Given the description of an element on the screen output the (x, y) to click on. 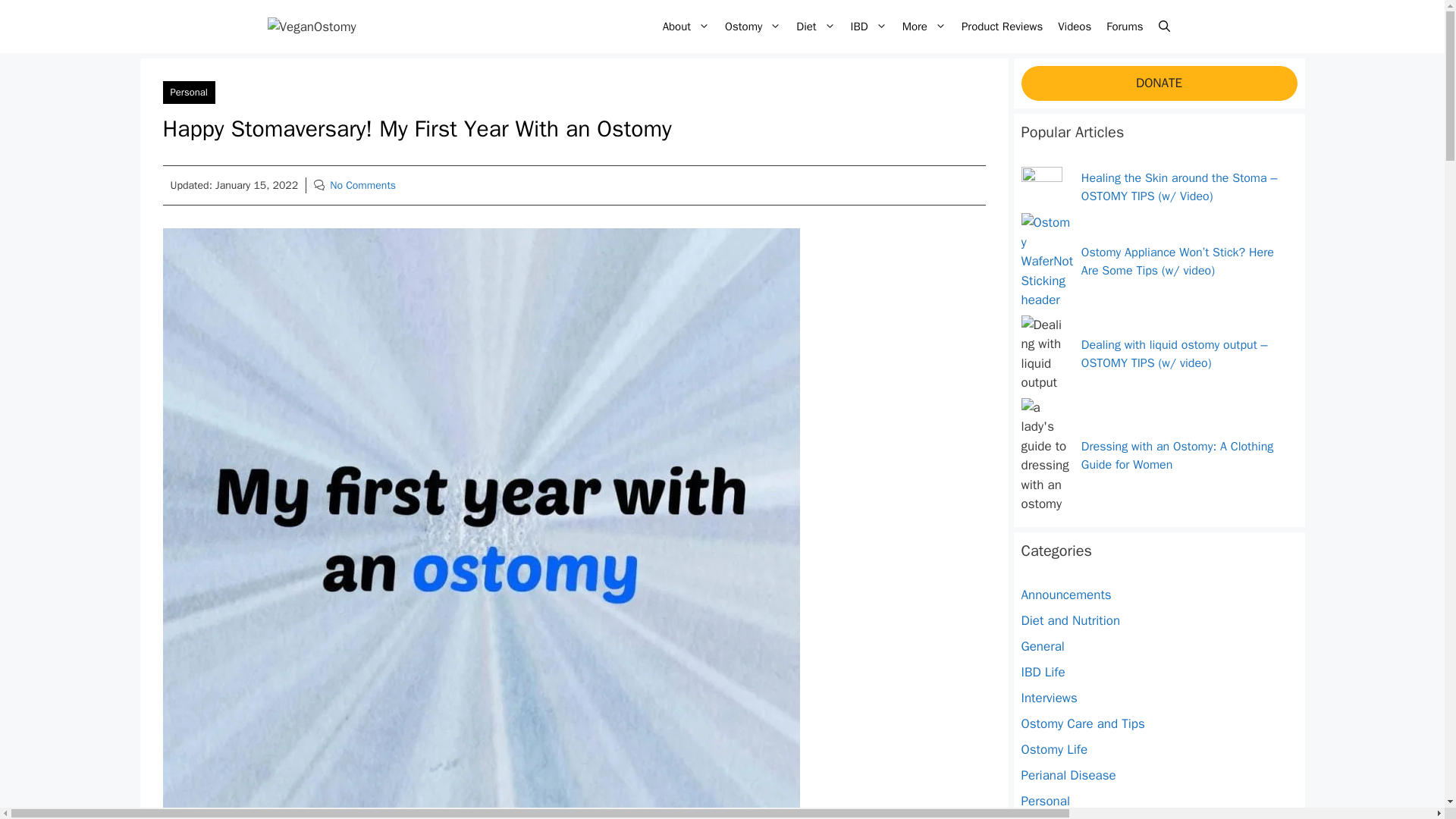
About (686, 26)
Ostomy (753, 26)
